Given the description of an element on the screen output the (x, y) to click on. 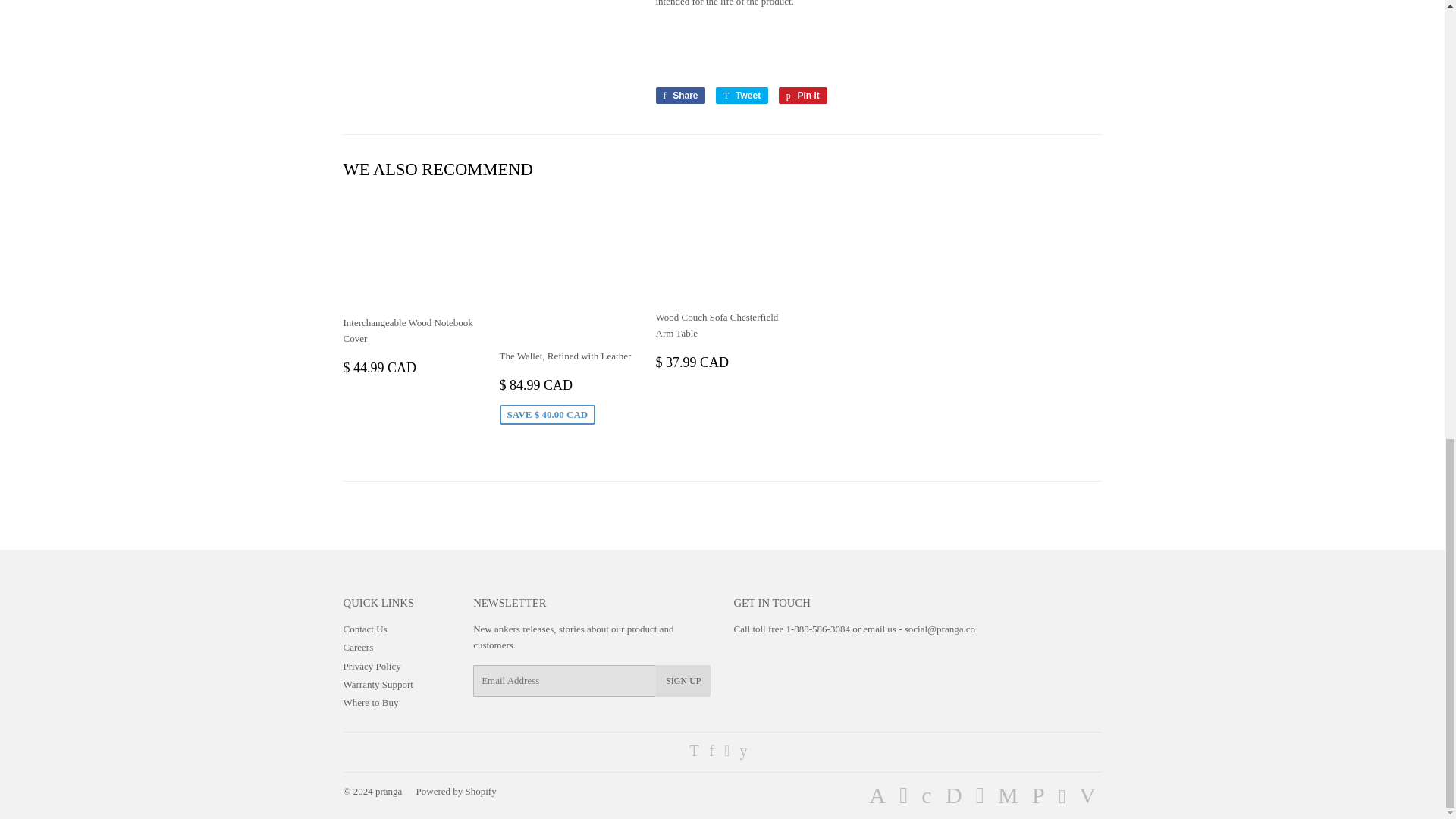
Tweet on Twitter (742, 95)
Share on Facebook (679, 95)
Pin on Pinterest (802, 95)
